Given the description of an element on the screen output the (x, y) to click on. 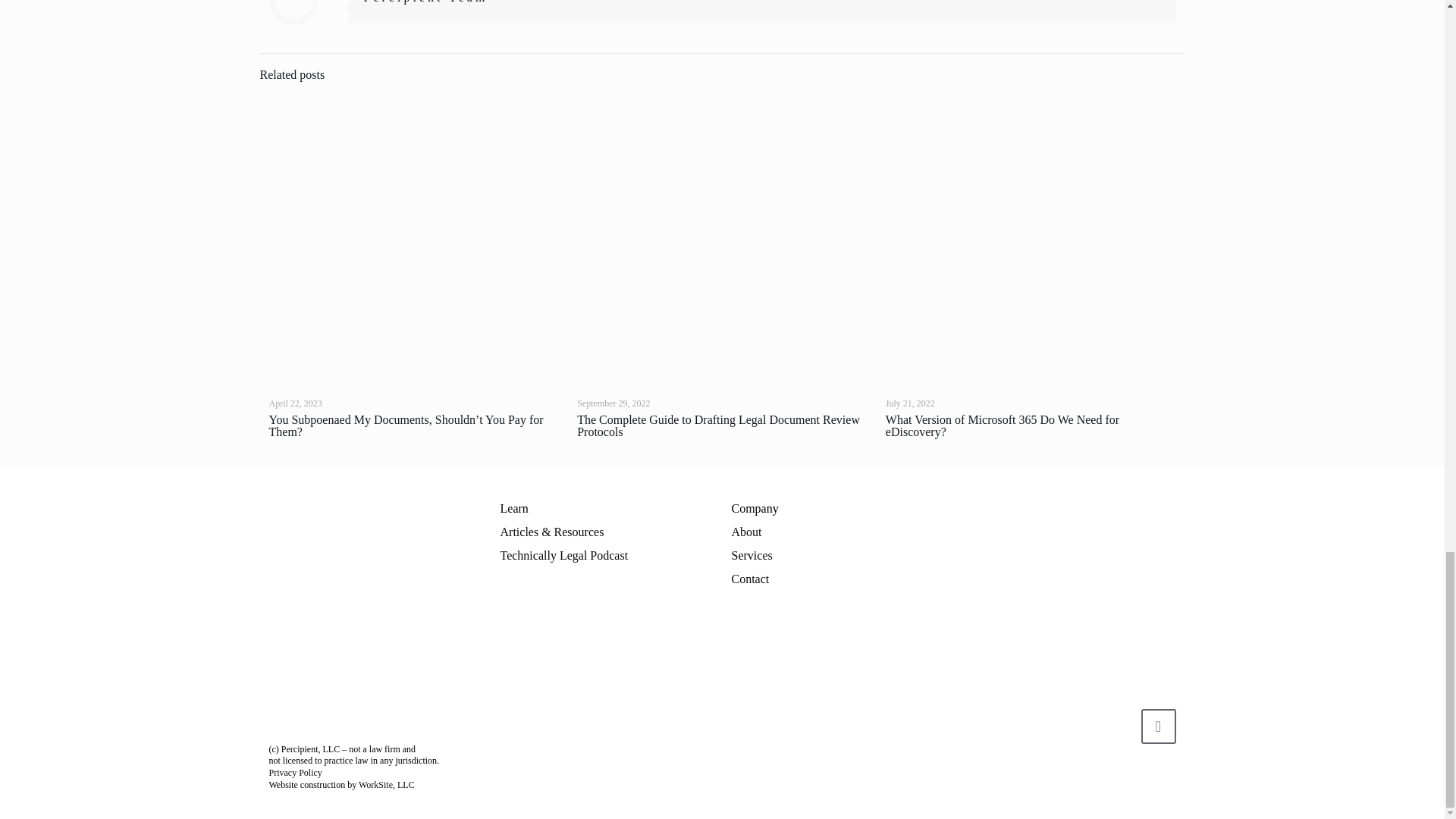
Services (750, 554)
Technically Legal Podcast (564, 554)
What Version of Microsoft 365 Do We Need for eDiscovery? (1002, 425)
About (745, 531)
Instagram (1155, 797)
Percipient Team (425, 2)
Contact (749, 578)
YouTube (1123, 797)
LinkedIn (1138, 797)
